Given the description of an element on the screen output the (x, y) to click on. 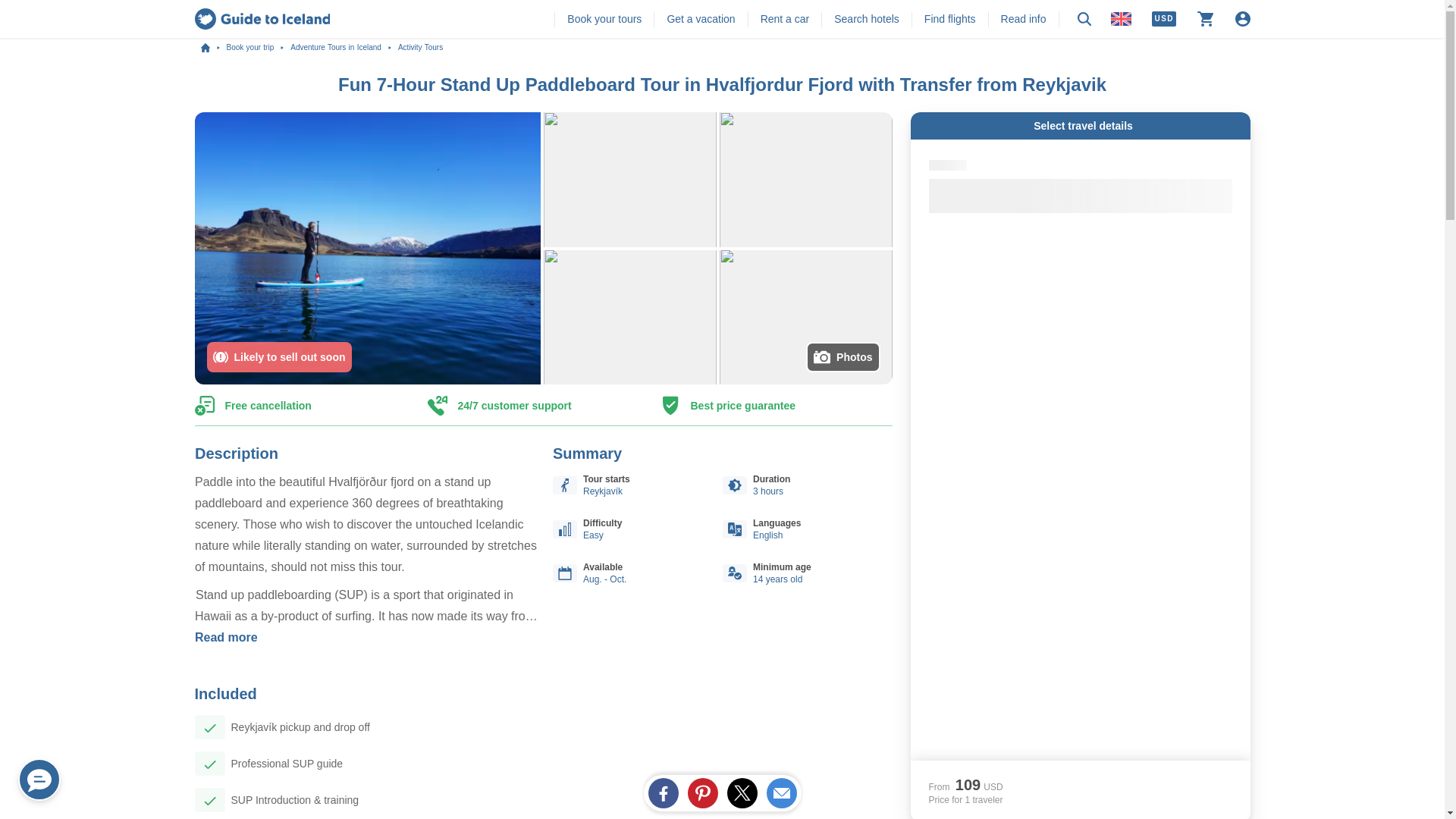
Activity Tours (419, 47)
Get a vacation (700, 18)
Book your trip (257, 47)
Guide to Iceland (261, 18)
Adventure Tours in Iceland (343, 47)
Photos (842, 357)
Read info (1023, 18)
Activity Tours (419, 47)
USD (1162, 18)
Find flights (949, 18)
